Given the description of an element on the screen output the (x, y) to click on. 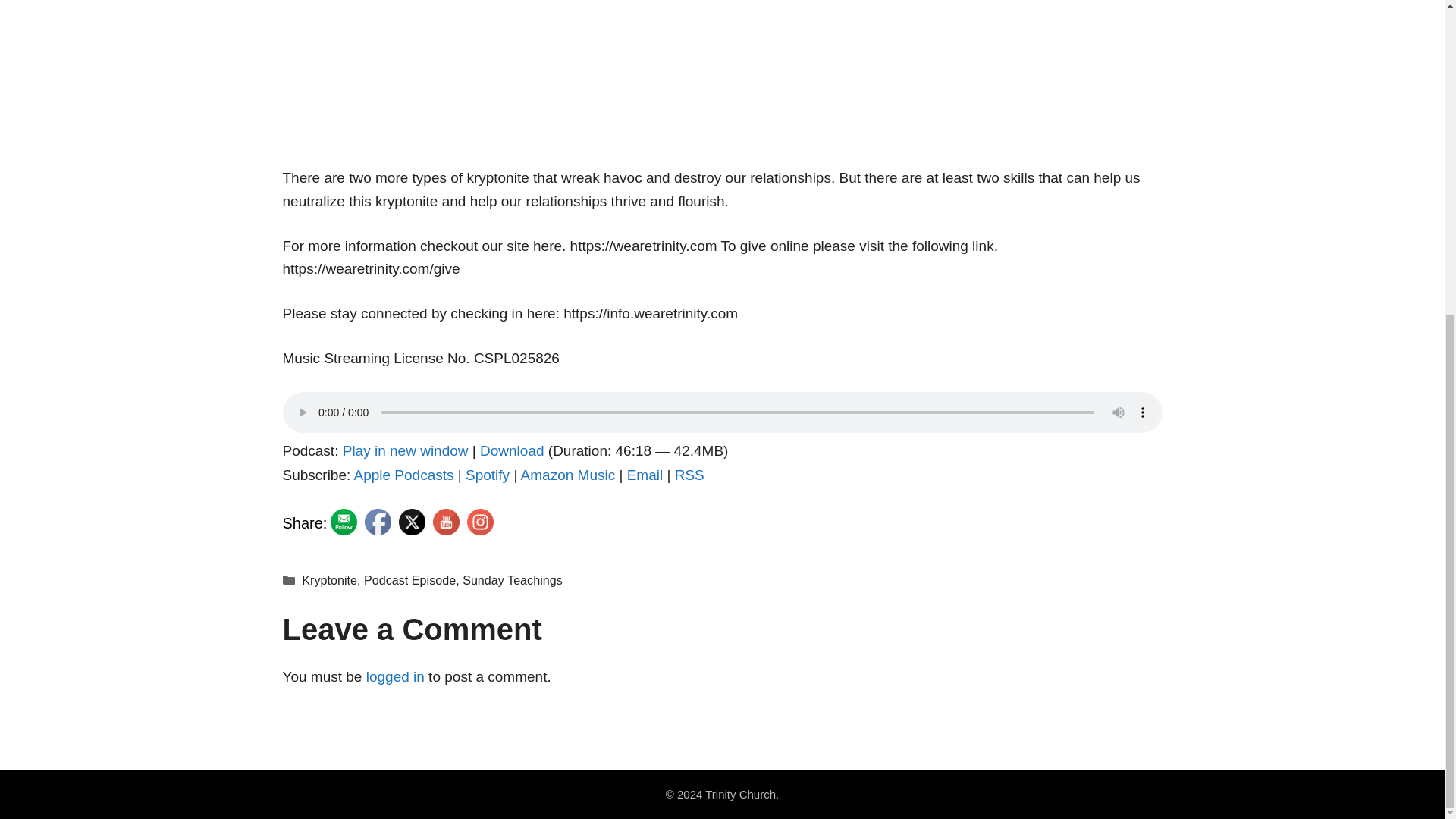
Spotify (487, 474)
logged in (395, 676)
Apple Podcasts (402, 474)
Subscribe by Email (645, 474)
Kryptonite (328, 580)
Subscribe on Apple Podcasts (402, 474)
Play in new window (405, 450)
RSS (689, 474)
Download (512, 450)
Amazon Music (568, 474)
Download (512, 450)
Subscribe via RSS (689, 474)
The Stories We Tell Ourselves - May 23th, 2021 - 11:00am (721, 72)
Podcast Episode (409, 580)
Subscribe on Amazon Music (568, 474)
